Given the description of an element on the screen output the (x, y) to click on. 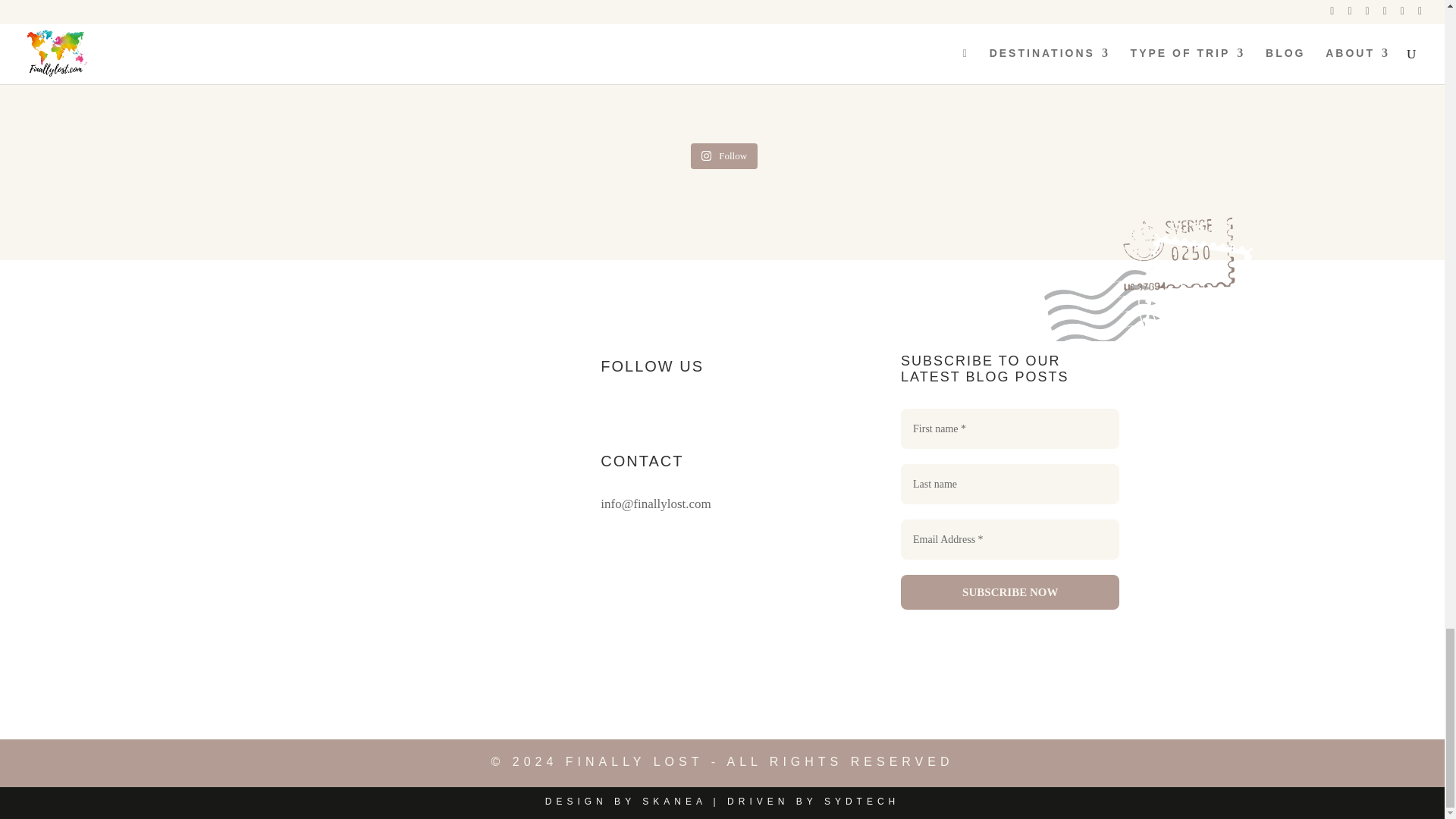
Advertisement (722, 65)
SUBSCRIBE NOW (1010, 592)
